Given the description of an element on the screen output the (x, y) to click on. 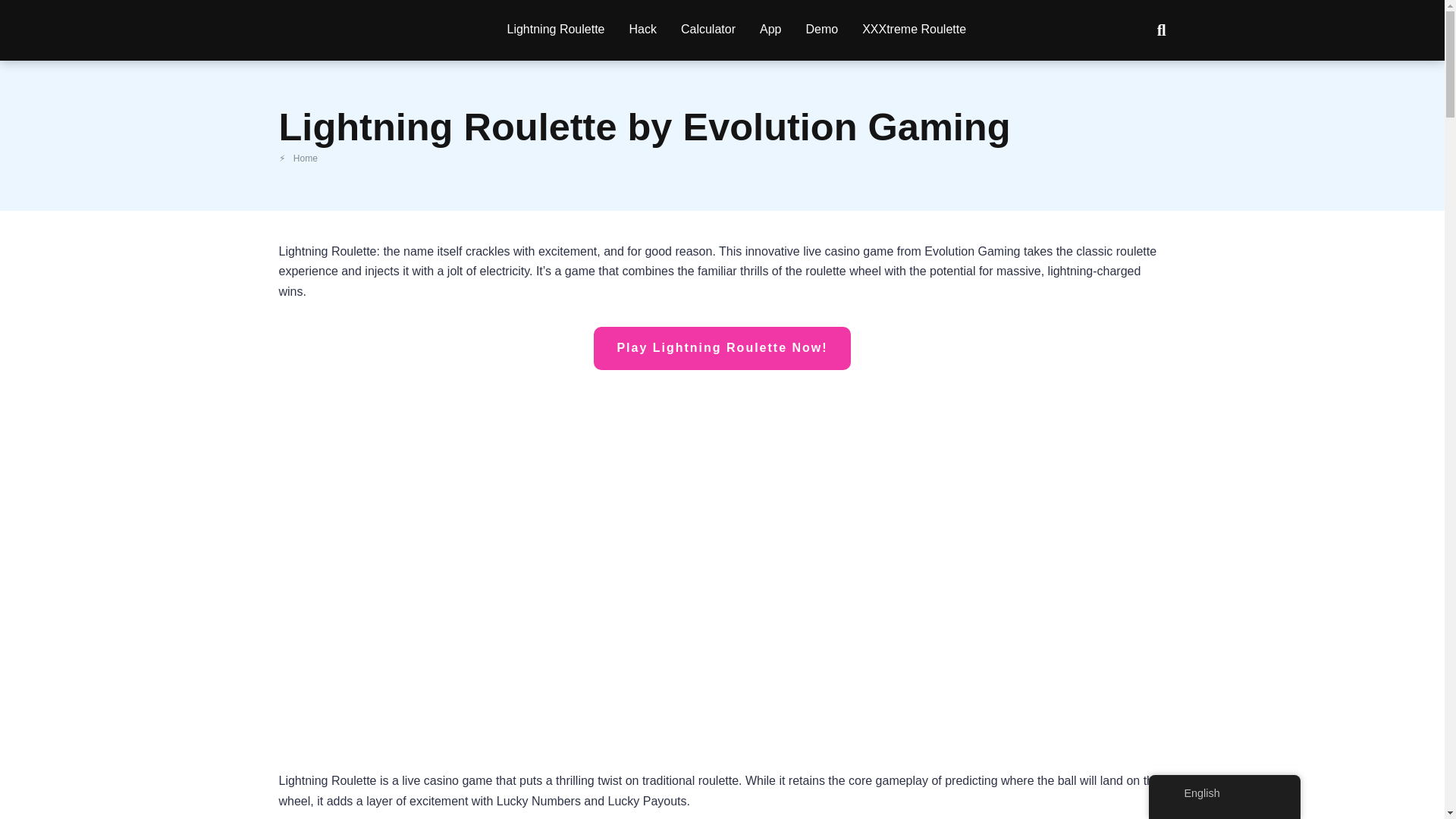
XXXtreme Roulette (914, 30)
Lightning Roulette (555, 30)
English (1172, 792)
Demo (821, 30)
Calculator (708, 30)
English (1224, 792)
Play Lightning Roulette Now! (722, 347)
Evolution Roulette (299, 24)
